Given the description of an element on the screen output the (x, y) to click on. 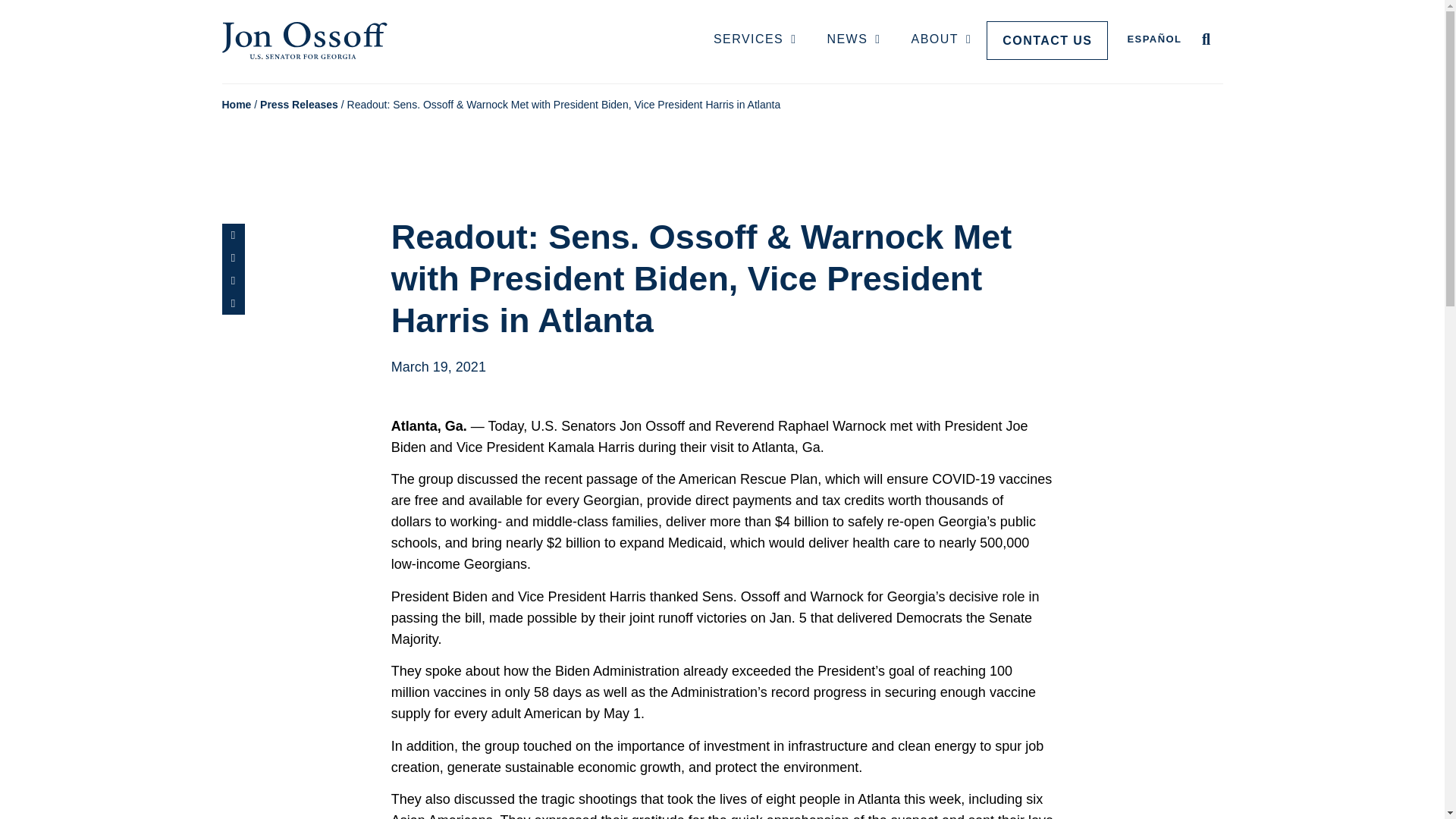
SERVICES (755, 40)
NEWS (852, 40)
ABOUT (941, 40)
CONTACT US (1047, 40)
